Given the description of an element on the screen output the (x, y) to click on. 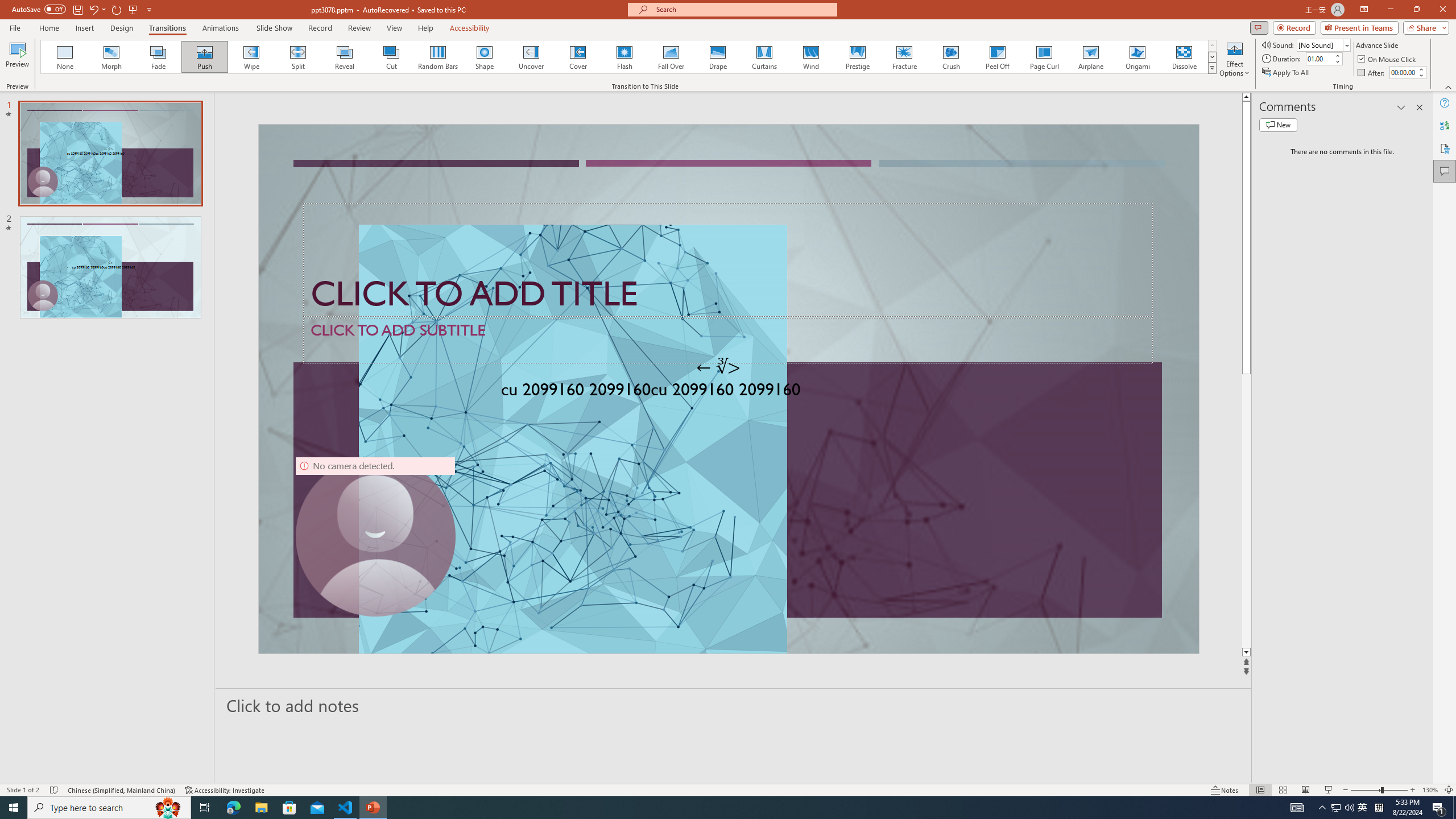
Cut (391, 56)
After (1403, 72)
Morph (111, 56)
Title TextBox (727, 260)
Zoom 130% (1430, 790)
Ribbon Display Options (1364, 9)
TextBox 7 (718, 367)
Flash (624, 56)
Zoom to Fit  (1449, 790)
Transition Effects (1212, 67)
Review (359, 28)
Curtains (764, 56)
Zoom (1379, 790)
